Given the description of an element on the screen output the (x, y) to click on. 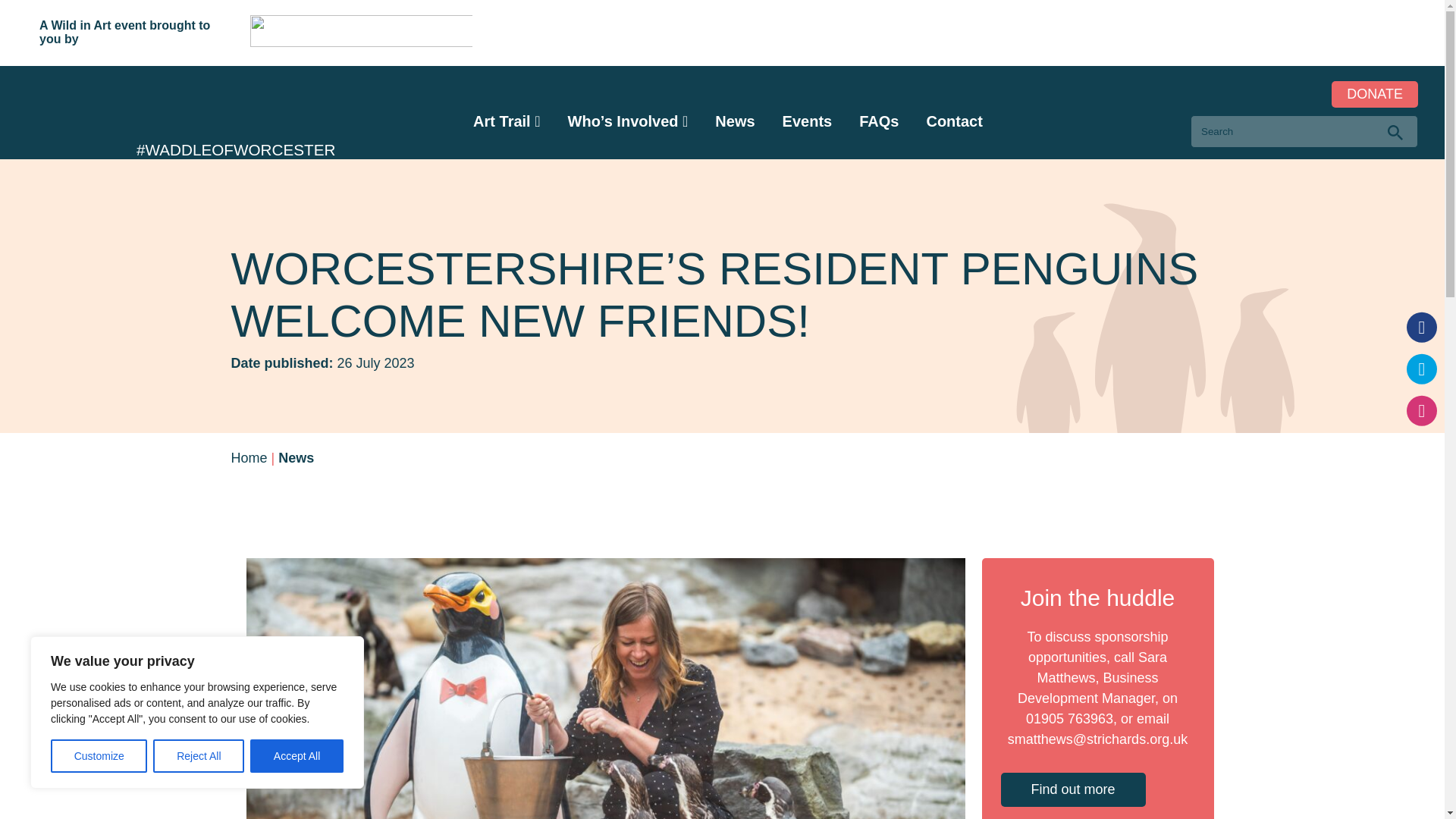
Art Trail (502, 121)
News (734, 121)
Customize (98, 756)
Contact (953, 121)
FAQs (878, 121)
Accept All (296, 756)
DONATE (1375, 94)
Reject All (198, 756)
Events (807, 121)
